Given the description of an element on the screen output the (x, y) to click on. 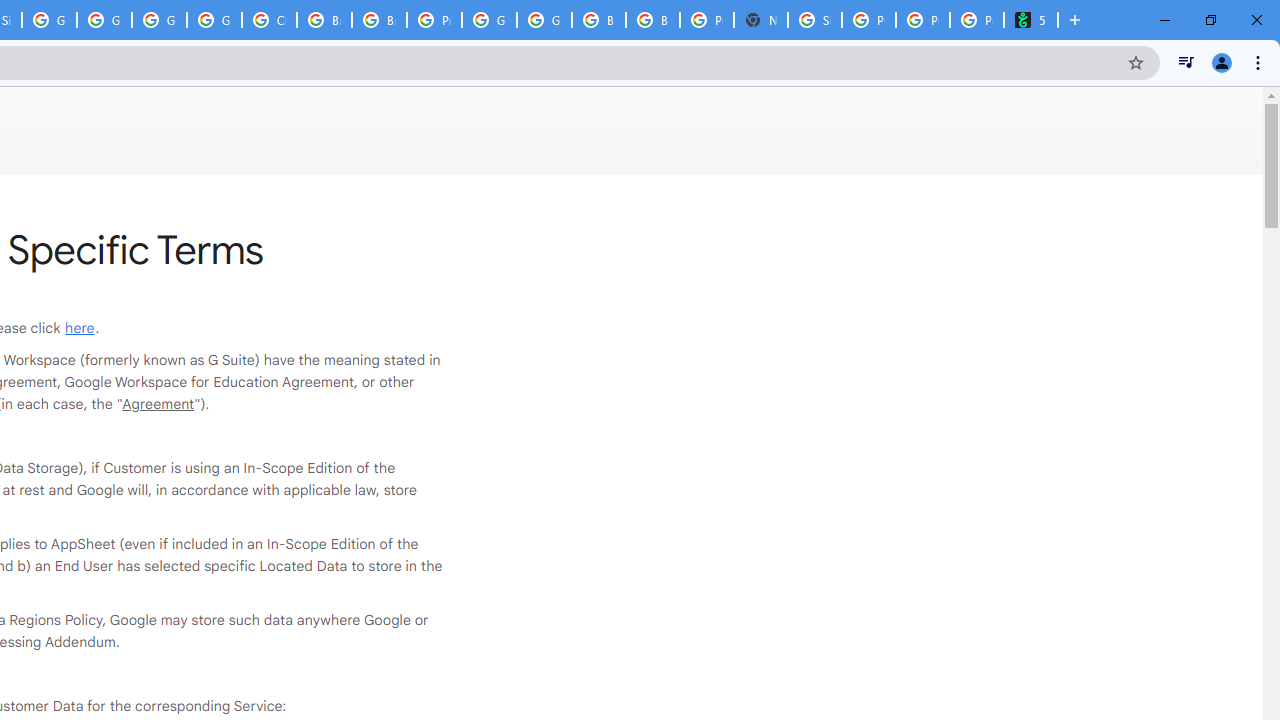
Google Cloud Platform (489, 20)
Sign in - Google Accounts (815, 20)
Browse Chrome as a guest - Computer - Google Chrome Help (598, 20)
Browse Chrome as a guest - Computer - Google Chrome Help (652, 20)
Bookmark this tab (1135, 62)
Chrome (1260, 62)
Minimize (1165, 20)
New Tab (760, 20)
You (1221, 62)
Google Cloud Platform (544, 20)
